Given the description of an element on the screen output the (x, y) to click on. 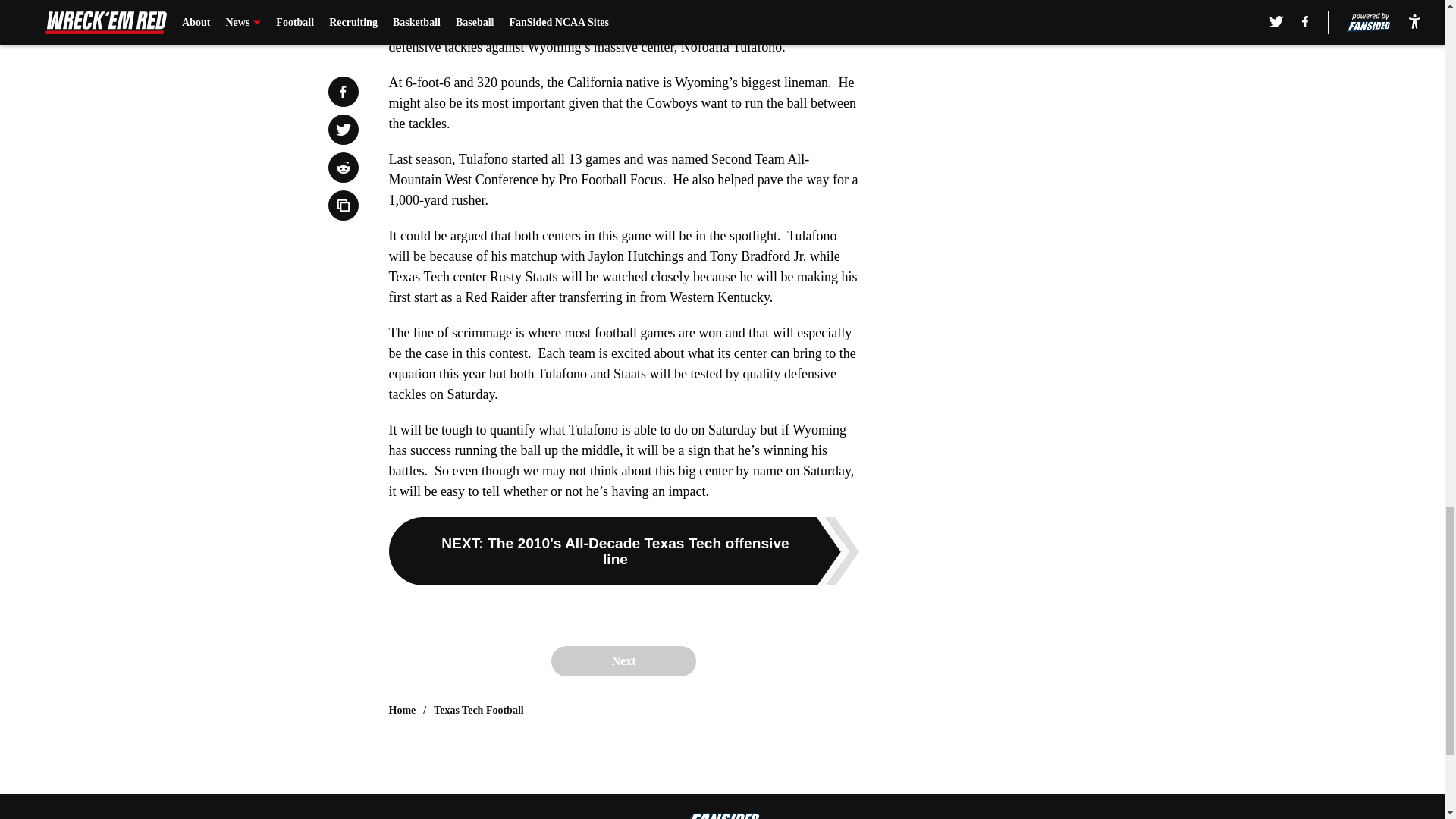
Home (401, 710)
Next (622, 661)
Texas Tech Football (478, 710)
NEXT: The 2010's All-Decade Texas Tech offensive line (623, 550)
